Given the description of an element on the screen output the (x, y) to click on. 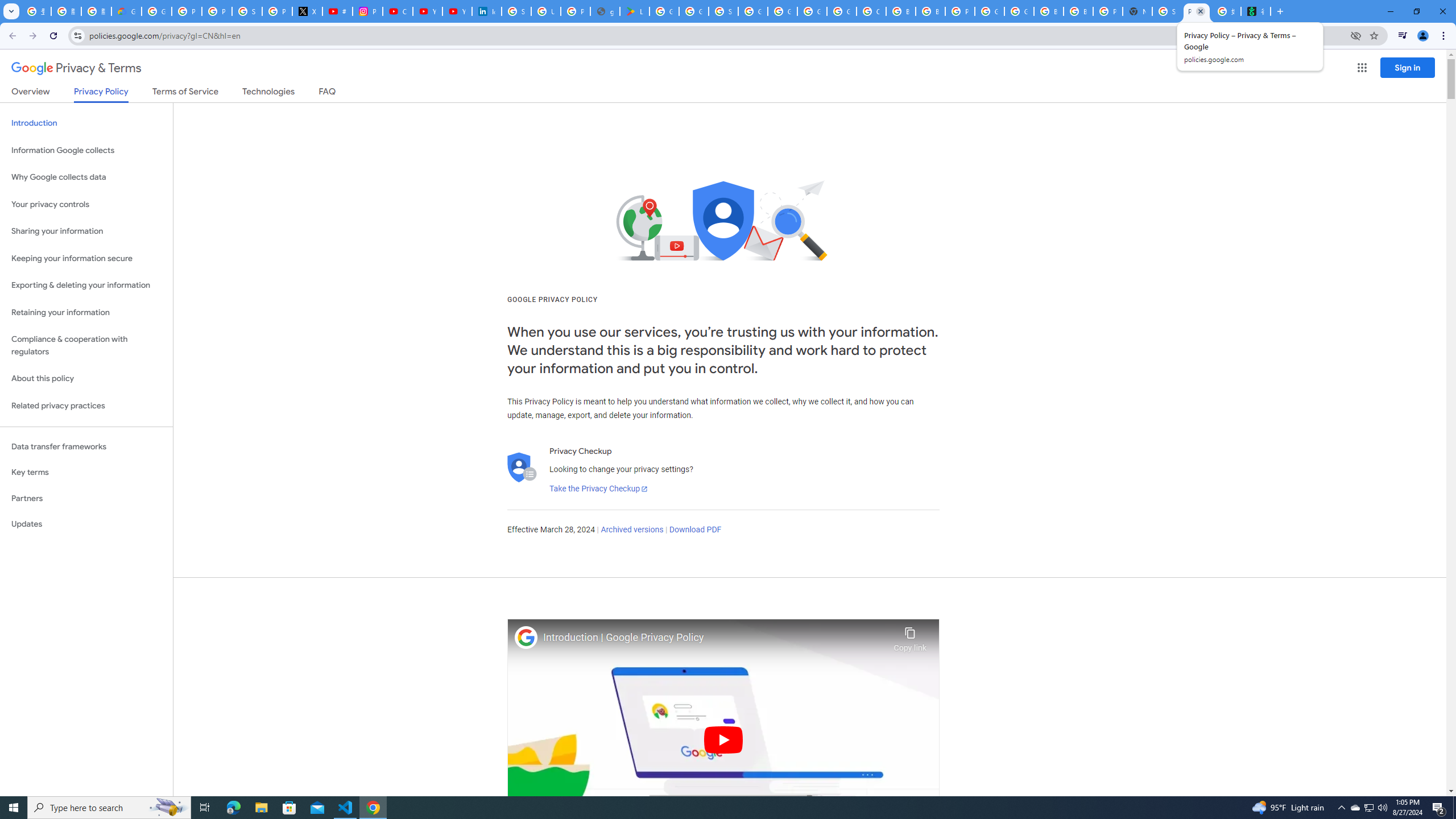
Last Shelter: Survival - Apps on Google Play (634, 11)
Copy link (909, 636)
Google Cloud Privacy Notice (126, 11)
Sign in - Google Accounts (723, 11)
Related privacy practices (86, 405)
